Given the description of an element on the screen output the (x, y) to click on. 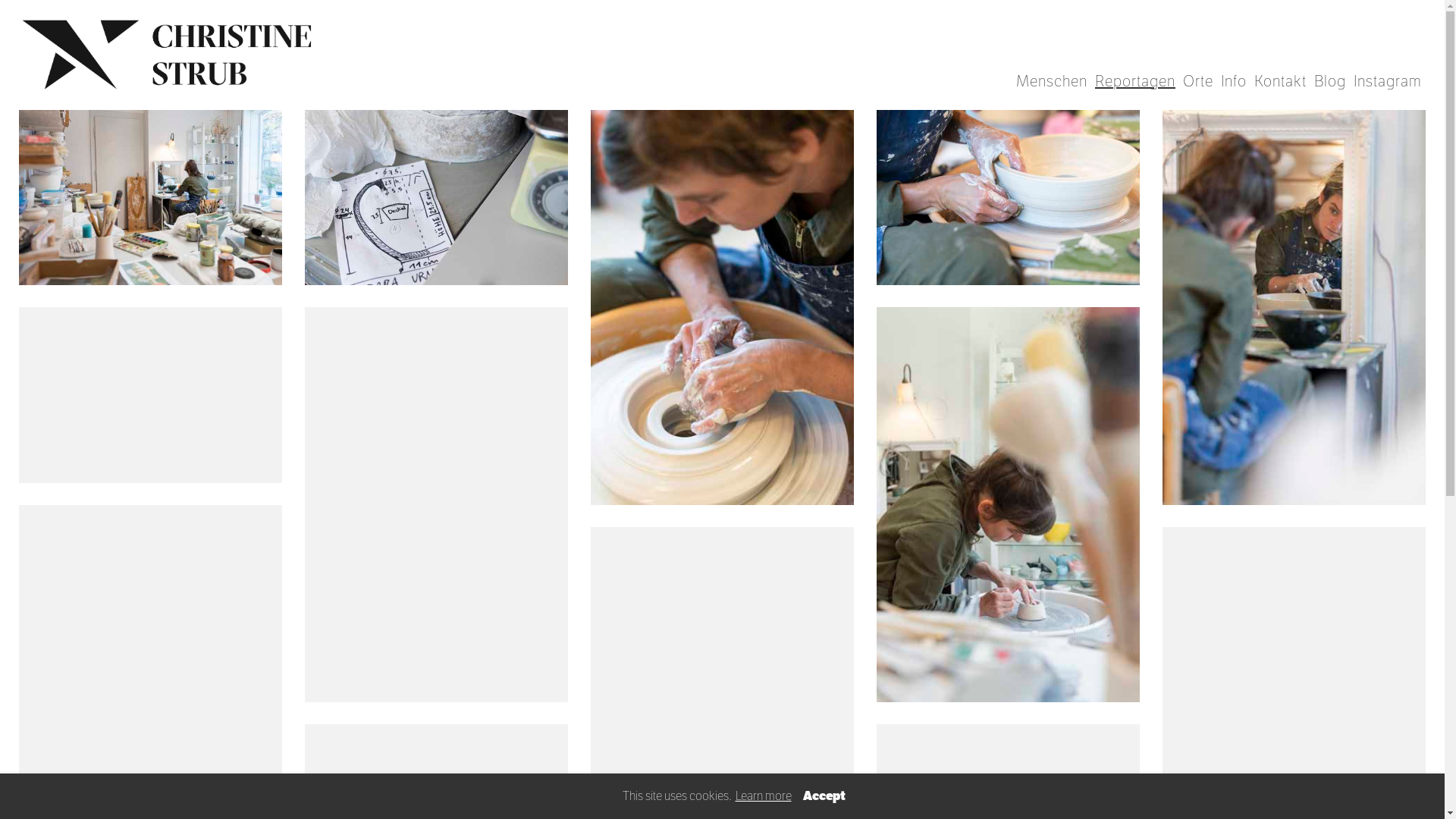
allyou.net Element type: text (1420, 807)
Instagram Element type: text (1387, 81)
Blog Element type: text (1330, 81)
Menschen Element type: text (1051, 81)
Orte Element type: text (1198, 81)
Info Element type: text (1233, 81)
Reportagen Element type: text (1135, 81)
Learn more Element type: text (762, 795)
Kontakt Element type: text (1280, 81)
Accept Element type: text (823, 795)
